Given the description of an element on the screen output the (x, y) to click on. 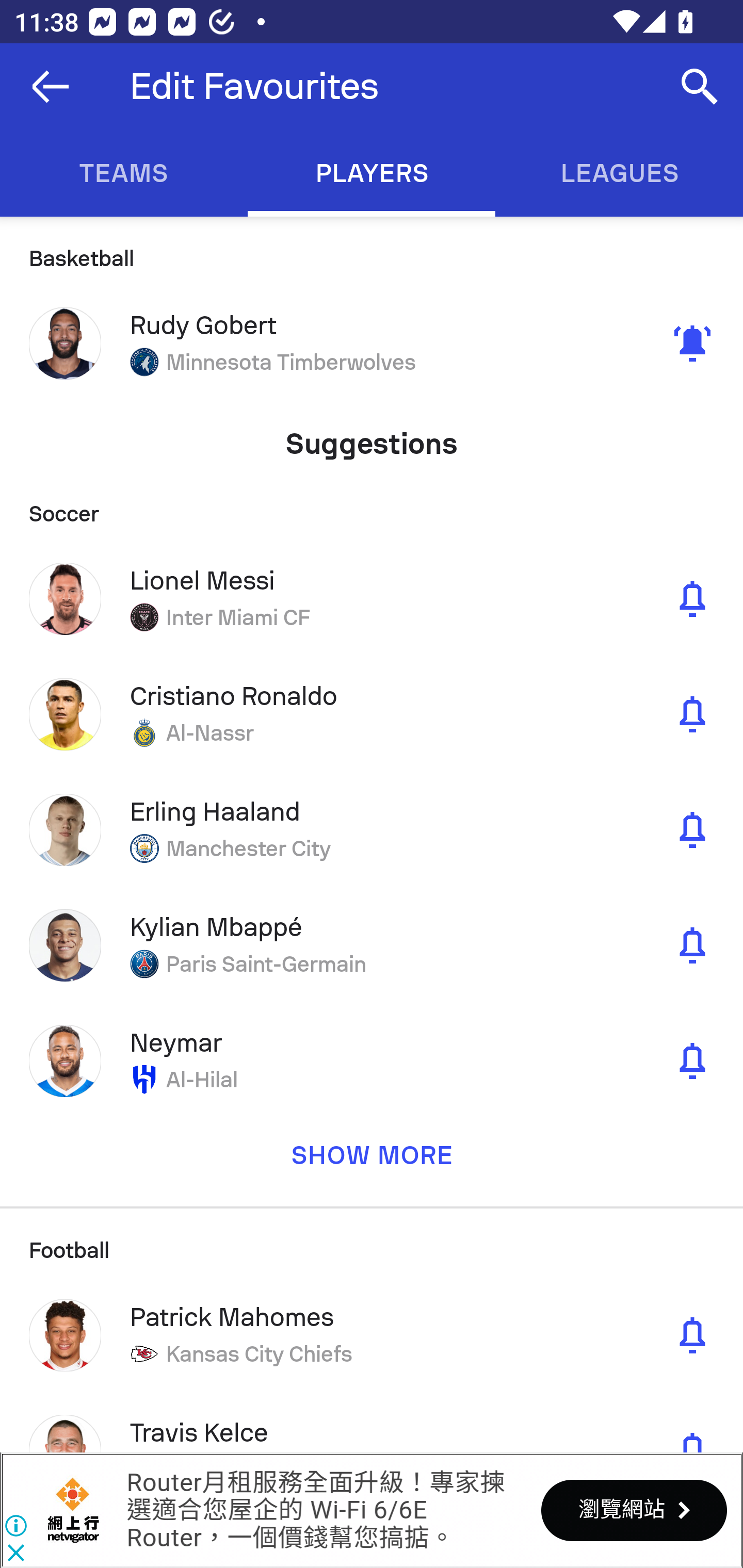
Navigate up (50, 86)
Search (699, 86)
Teams TEAMS (123, 173)
Leagues LEAGUES (619, 173)
Basketball (371, 250)
Rudy Gobert Minnesota Timberwolves (371, 343)
Suggestions (371, 436)
Soccer (371, 505)
Lionel Messi Inter Miami CF (371, 598)
Cristiano Ronaldo Al-Nassr (371, 713)
Erling Haaland Manchester City (371, 829)
Kylian Mbappé Paris Saint-Germain (371, 945)
Neymar Al-Hilal (371, 1060)
SHOW MORE (371, 1161)
Football (371, 1241)
Patrick Mahomes Kansas City Chiefs (371, 1334)
網上行 Netvigator (73, 1510)
瀏覽網站 (634, 1509)
